Given the description of an element on the screen output the (x, y) to click on. 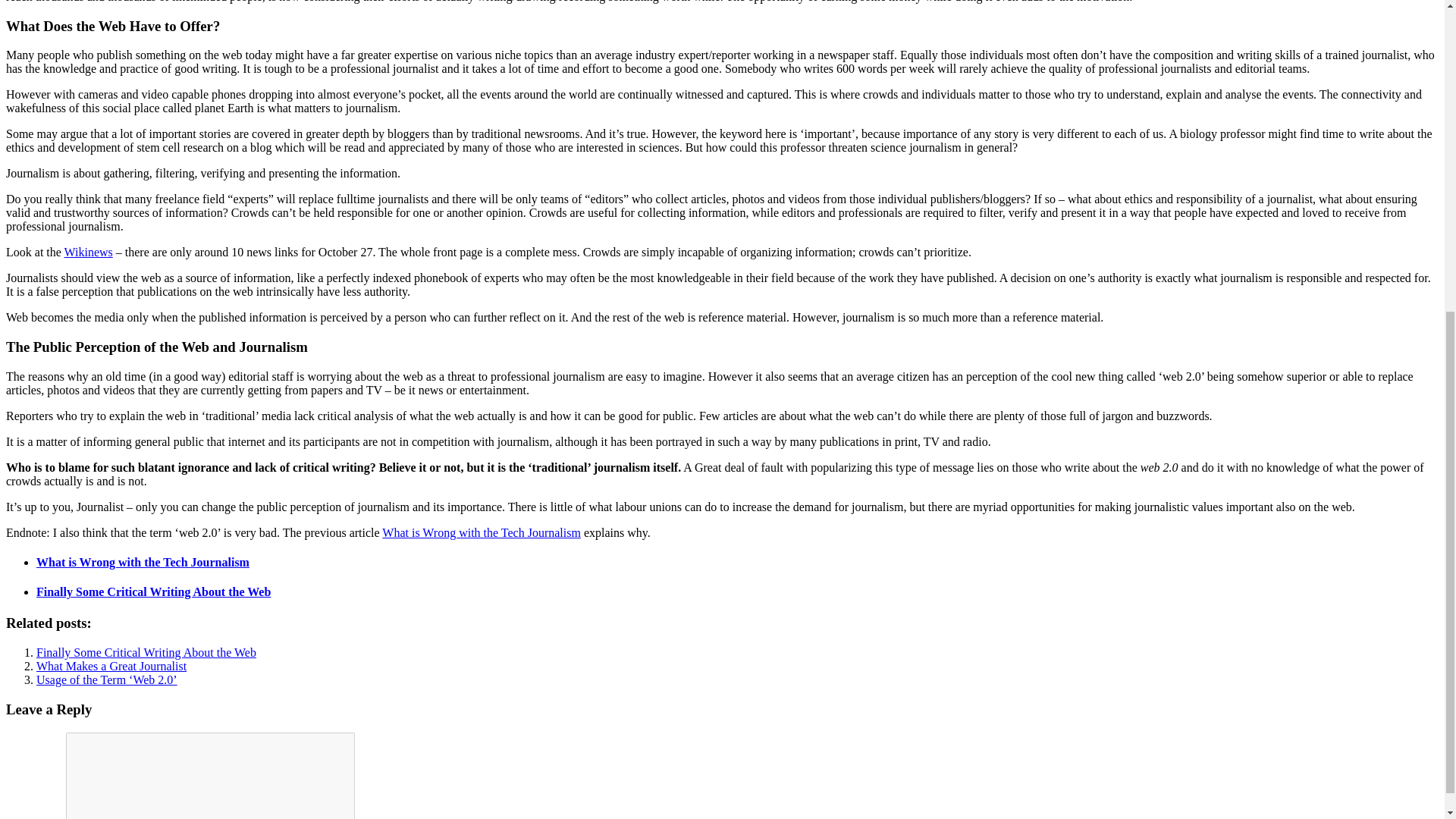
What Makes a Great Journalist (111, 665)
Finally Some Critical Writing About the Web (146, 651)
Finally Some Critical Writing About the Web (153, 591)
What is Wrong with the Tech Journalism (142, 562)
Wikinews (88, 251)
What is Wrong with the Tech Journalism (480, 532)
